Given the description of an element on the screen output the (x, y) to click on. 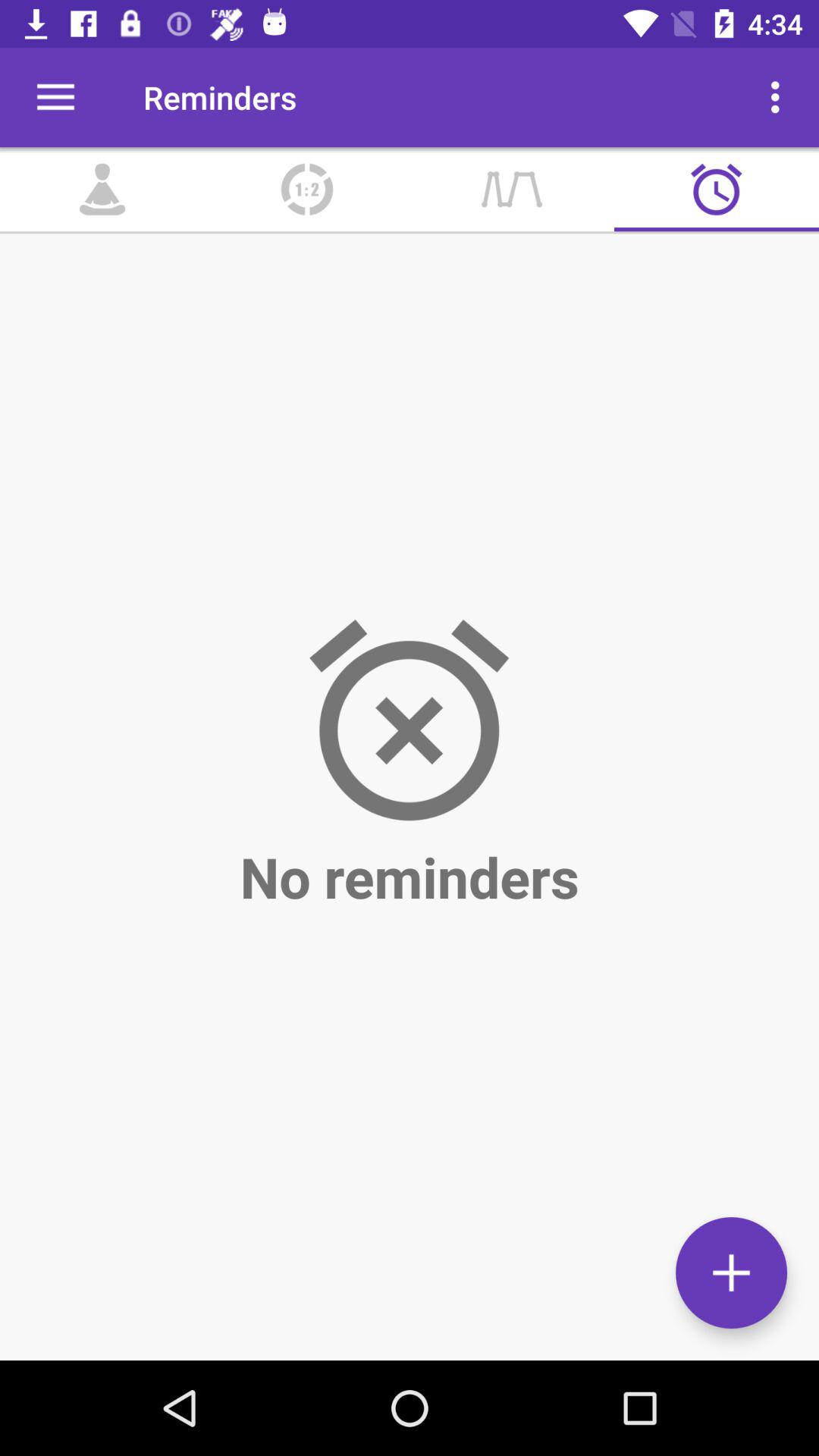
open item below the reminders icon (306, 189)
